Given the description of an element on the screen output the (x, y) to click on. 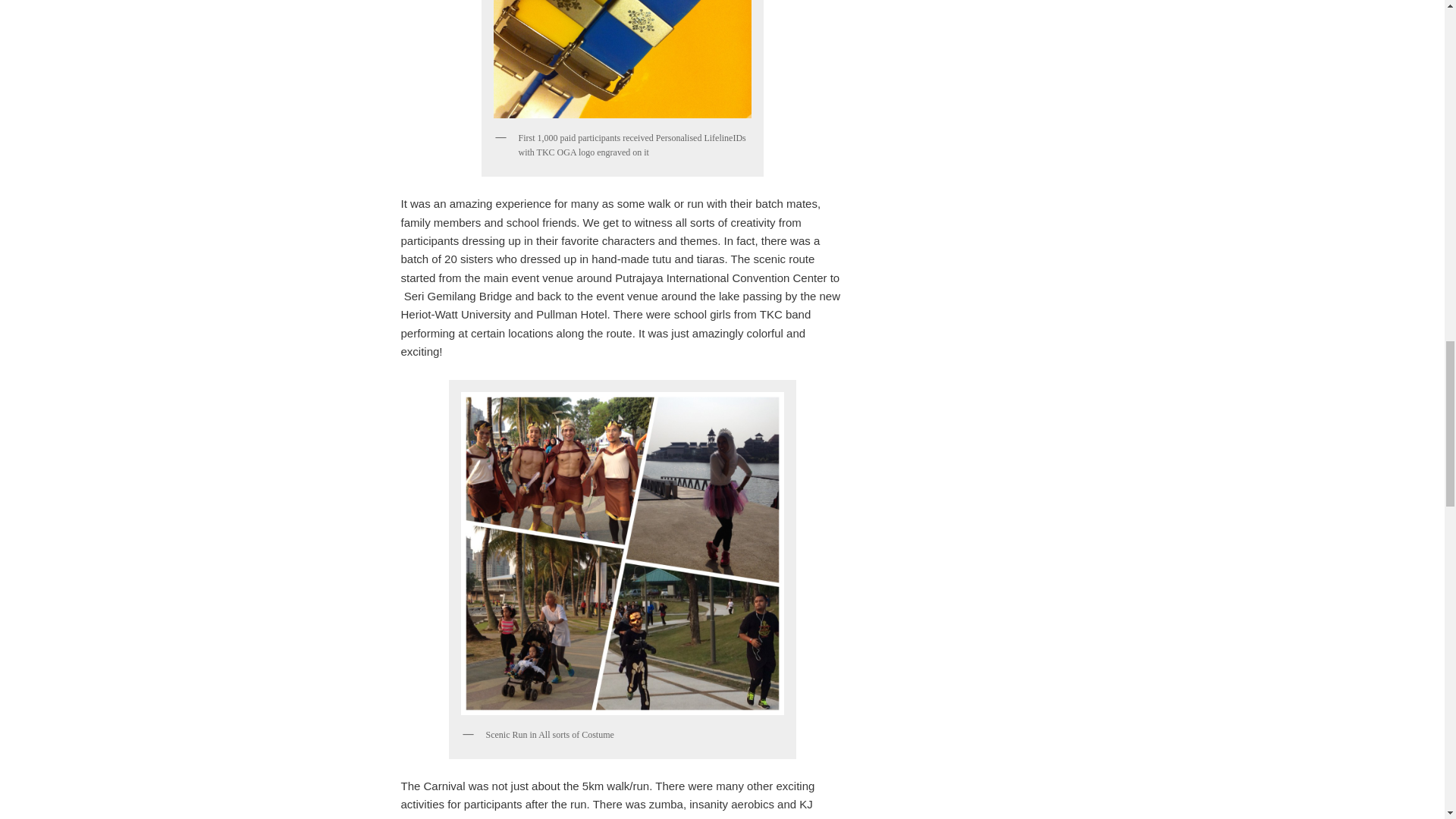
Scenic Run in All sorts of Costume (621, 553)
